Given the description of an element on the screen output the (x, y) to click on. 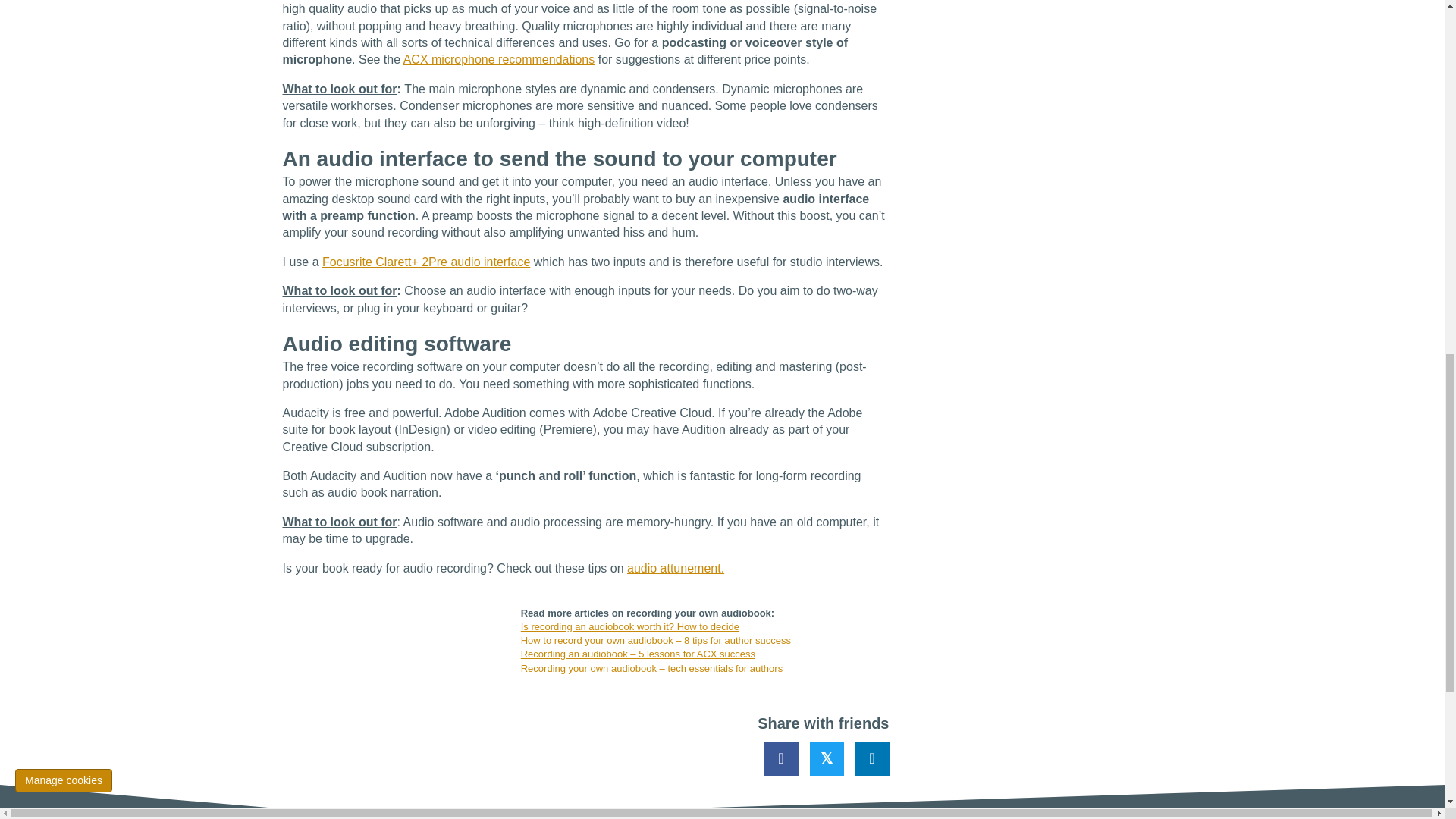
ACX microphone recommendations (499, 59)
audio attunement. (675, 567)
Is recording an audiobook worth it? How to decide (630, 626)
